Given the description of an element on the screen output the (x, y) to click on. 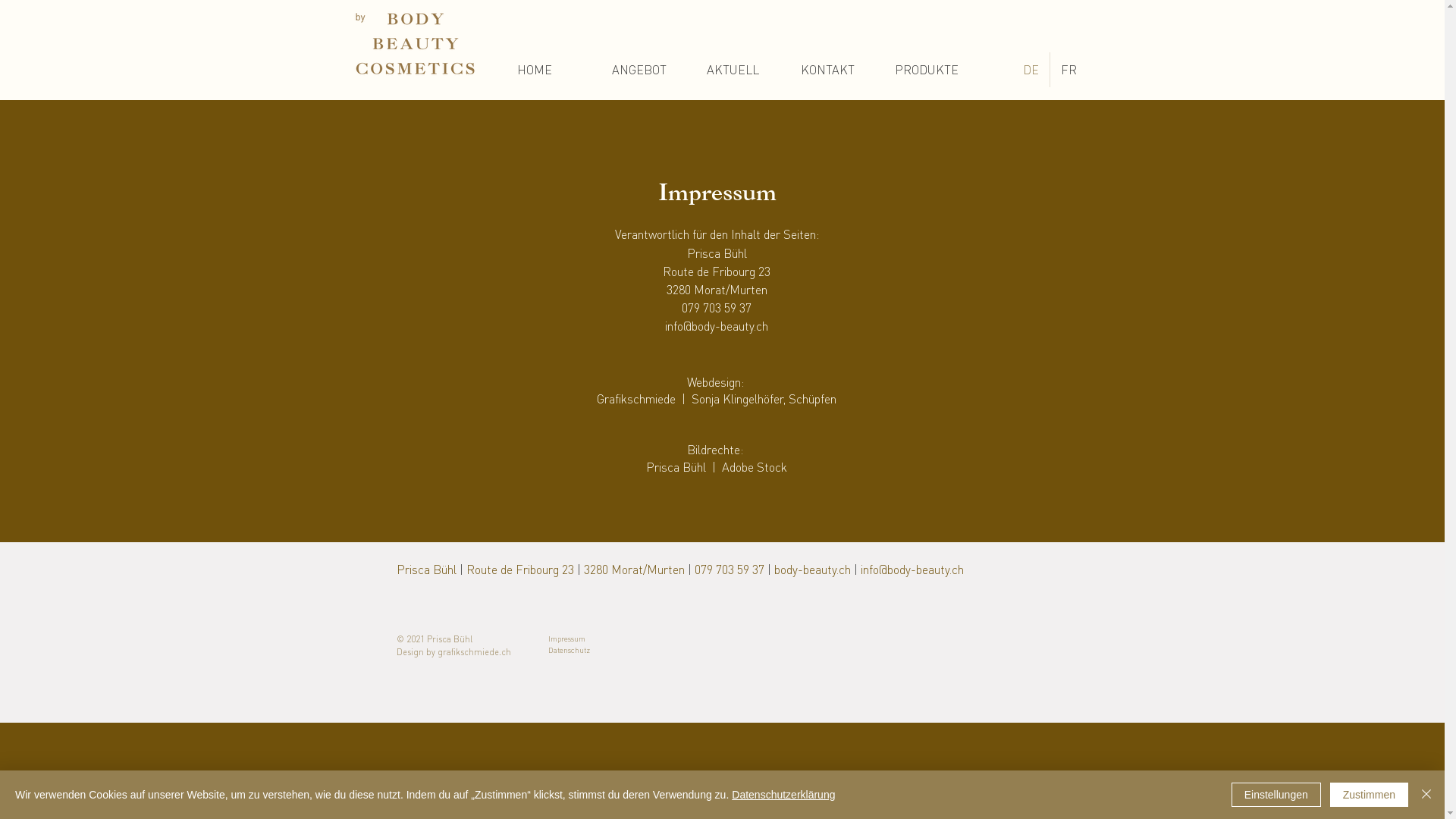
info@body-beauty.ch Element type: text (716, 325)
DE Element type: text (1029, 69)
HOME Element type: text (552, 69)
079 703 59 37 | Element type: text (734, 569)
ANGEBOT Element type: text (647, 69)
Design by grafikschmiede.ch Element type: text (452, 651)
Zustimmen Element type: text (1369, 794)
Impressum Element type: text (565, 638)
FR Element type: text (1068, 69)
Einstellungen Element type: text (1276, 794)
Datenschutz Element type: text (568, 649)
079 703 59 37 Element type: text (716, 307)
KONTAKT Element type: text (835, 69)
 | Element type: text (688, 569)
AKTUELL Element type: text (741, 69)
PRODUKTE Element type: text (929, 69)
body-beauty.ch | info@body-beauty.ch Element type: text (868, 569)
